Given the description of an element on the screen output the (x, y) to click on. 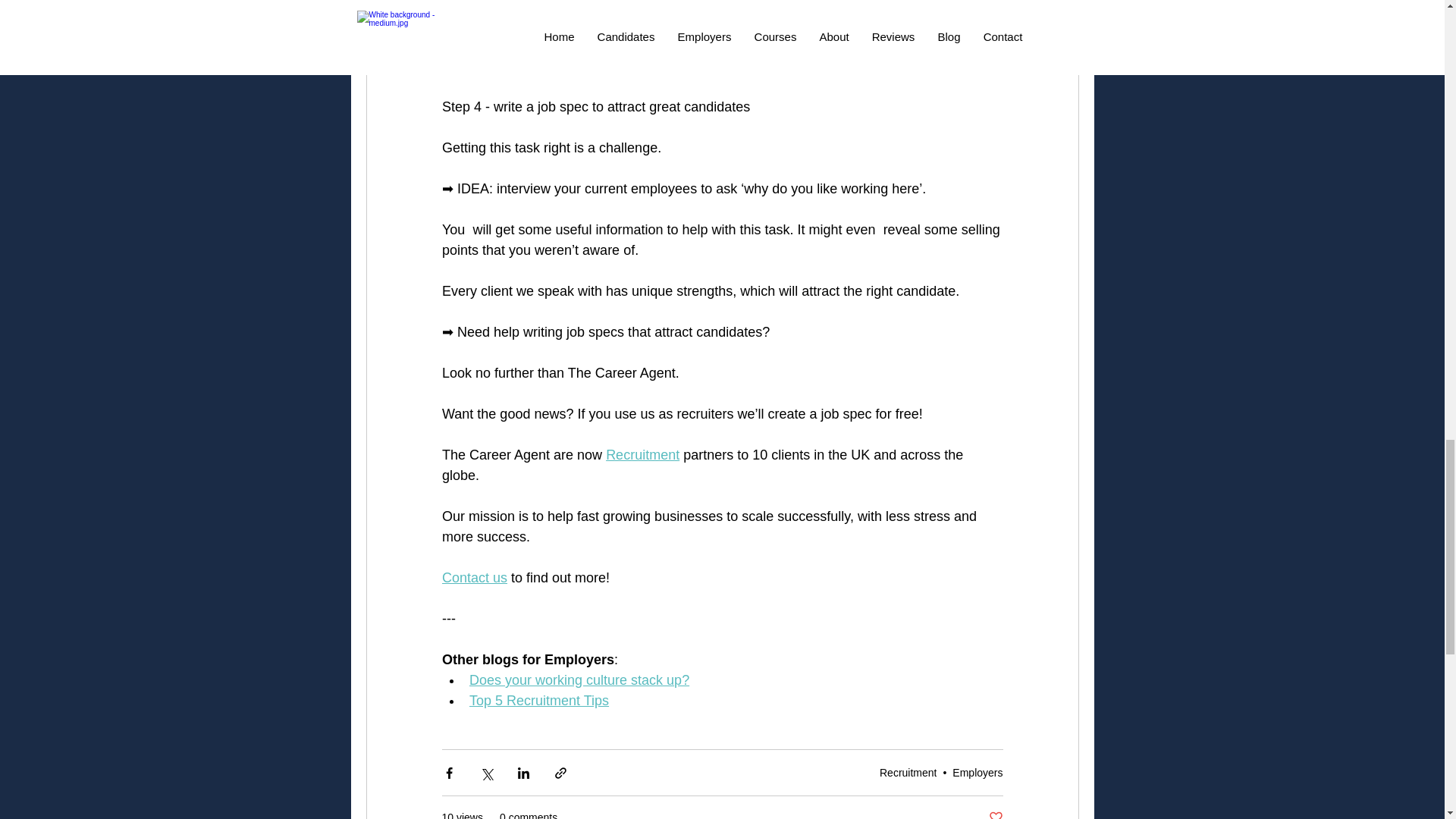
Post not marked as liked (995, 814)
Top 5 Recruitment Tips (538, 700)
Recruitment (642, 454)
Contact us (473, 577)
Recruitment (907, 771)
Does your working culture stack up? (578, 679)
Employers (977, 771)
